Given the description of an element on the screen output the (x, y) to click on. 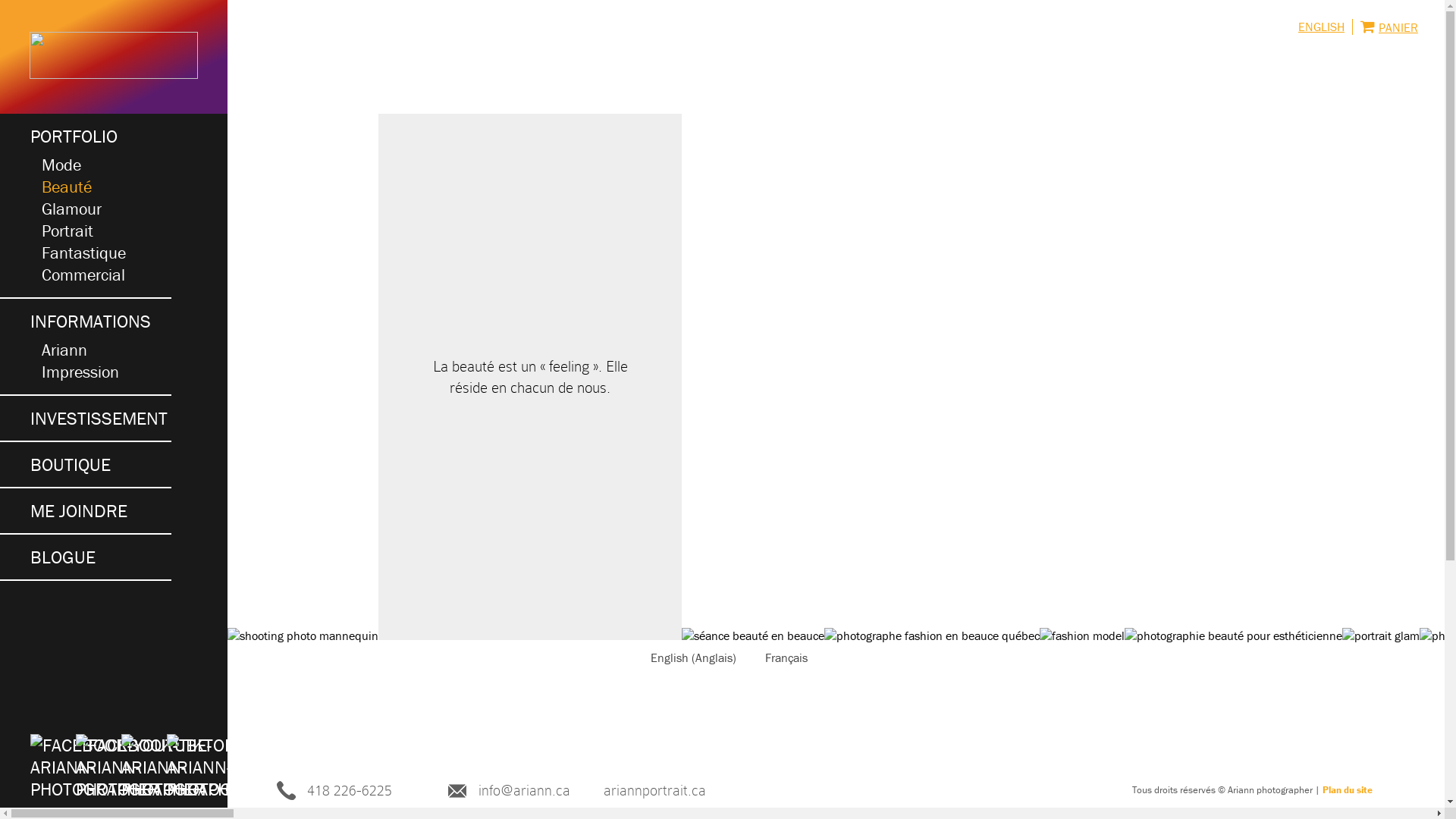
INVESTISSEMENT Element type: text (100, 418)
BLOGUE Element type: text (100, 556)
Glamour Element type: text (84, 208)
ENGLISH Element type: text (1321, 26)
ME JOINDRE Element type: text (100, 510)
ariannportrait.ca Element type: text (654, 790)
BOUTIQUE Element type: text (100, 464)
Impression Element type: text (84, 371)
Fantastique Element type: text (84, 252)
Portrait Element type: text (84, 230)
Plan du site Element type: text (1347, 789)
PORTFOLIO Element type: text (100, 136)
info@ariann.ca Element type: text (524, 790)
Mode Element type: text (84, 164)
Ariann Element type: text (84, 349)
English (Anglais) Element type: text (686, 657)
PANIER Element type: text (1385, 26)
Commercial Element type: text (84, 274)
INFORMATIONS Element type: text (100, 321)
